Given the description of an element on the screen output the (x, y) to click on. 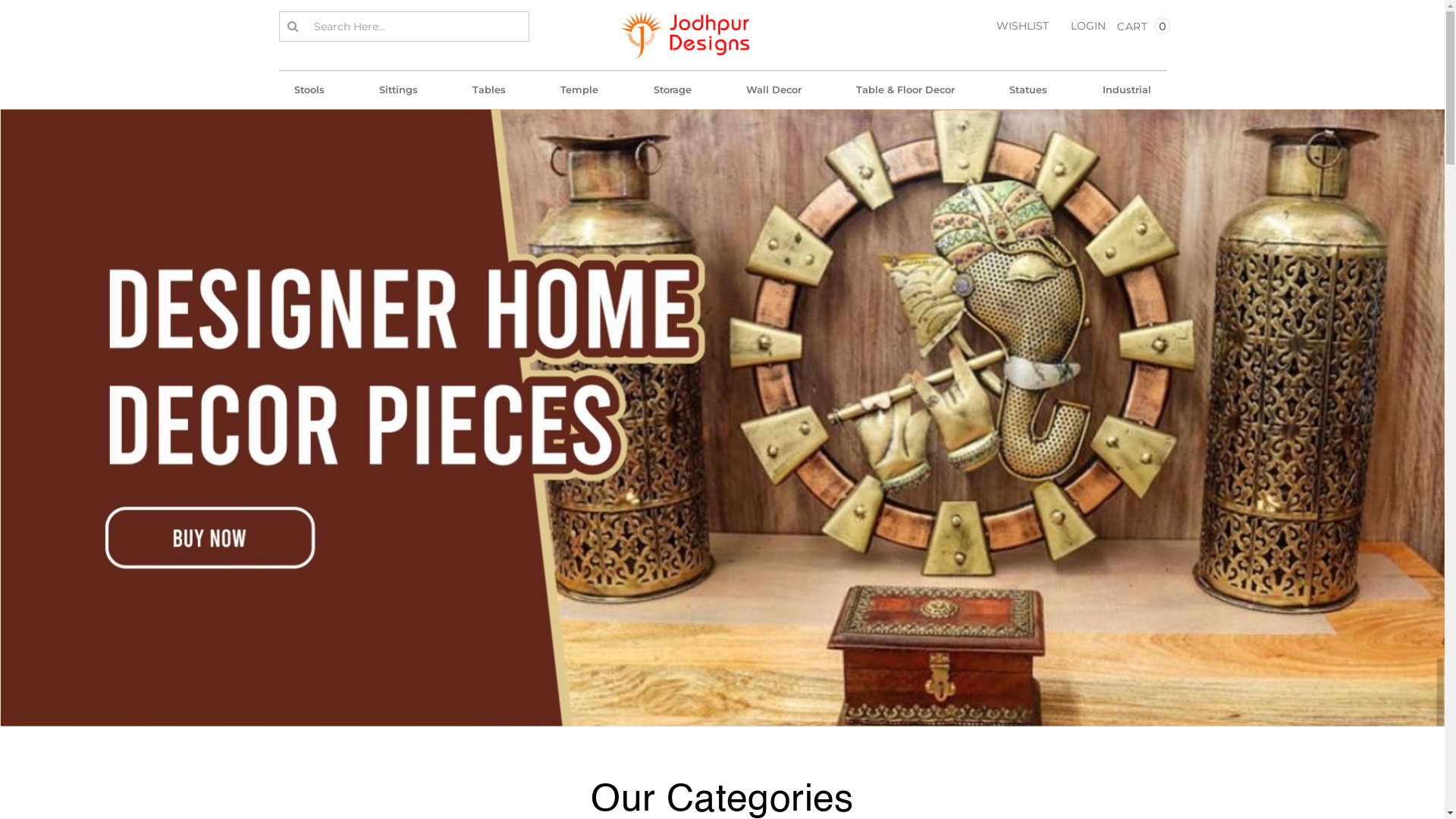
Jodhpur Designs Element type: hover (684, 34)
Sittings Element type: text (398, 90)
Table & Floor Decor Element type: text (905, 90)
Tables Element type: text (488, 90)
CART
0 Element type: text (1120, 30)
Decor Element type: hover (722, 417)
WISHLIST Element type: text (1022, 25)
Storage Element type: text (671, 90)
Industrial Element type: text (1126, 90)
Statues Element type: text (1028, 90)
Wall Decor Element type: text (773, 90)
Stools Element type: text (308, 90)
LOGIN Element type: text (1083, 25)
Temple Element type: text (579, 90)
